Given the description of an element on the screen output the (x, y) to click on. 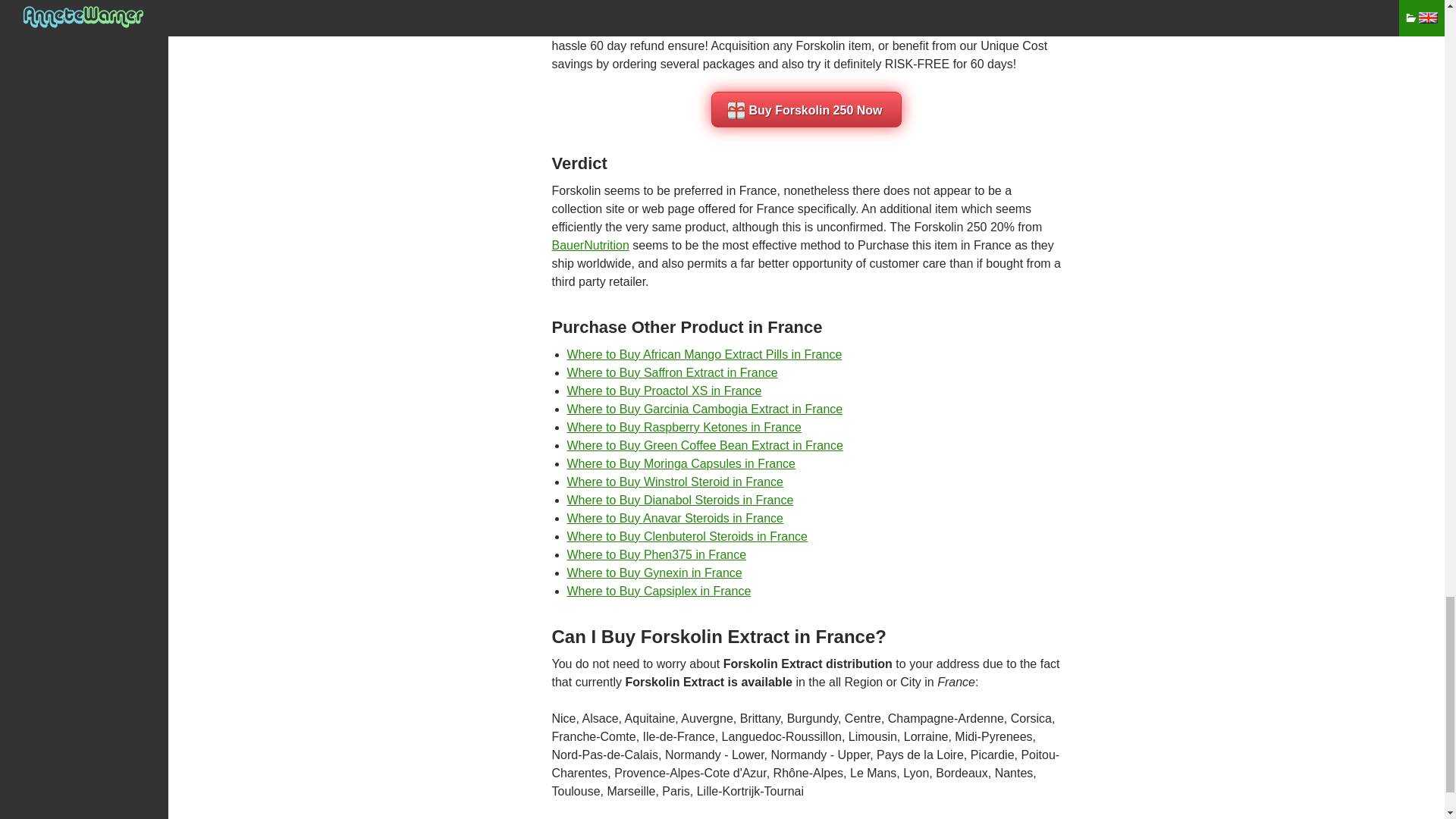
Where to Buy Clenbuterol Steroids in France (687, 535)
Where to Buy Green Coffee Bean Extract in France (705, 445)
Where to Buy Proactol XS in France (664, 390)
Where Can I Buy capsiplex online France (659, 590)
Where to Buy Phen375 in France (656, 554)
Where Can I Buy gynexin online France (654, 572)
Where to Buy Raspberry Ketones in France (684, 427)
Where to Buy Garcinia Cambogia Extract in France (705, 408)
Where to Buy Winstrol Steroid in France (675, 481)
Where Can I Buy garcinia-cambogia-extract online France (705, 408)
Where Can I Buy anavar-steroids online France (675, 517)
Where to Buy Saffron Extract in France (672, 372)
Where Can I Buy raspberry-ketones online France (684, 427)
Where Can I Buy proactol online France (664, 390)
Where Can I Buy green-coffee-bean-extract online France (705, 445)
